Given the description of an element on the screen output the (x, y) to click on. 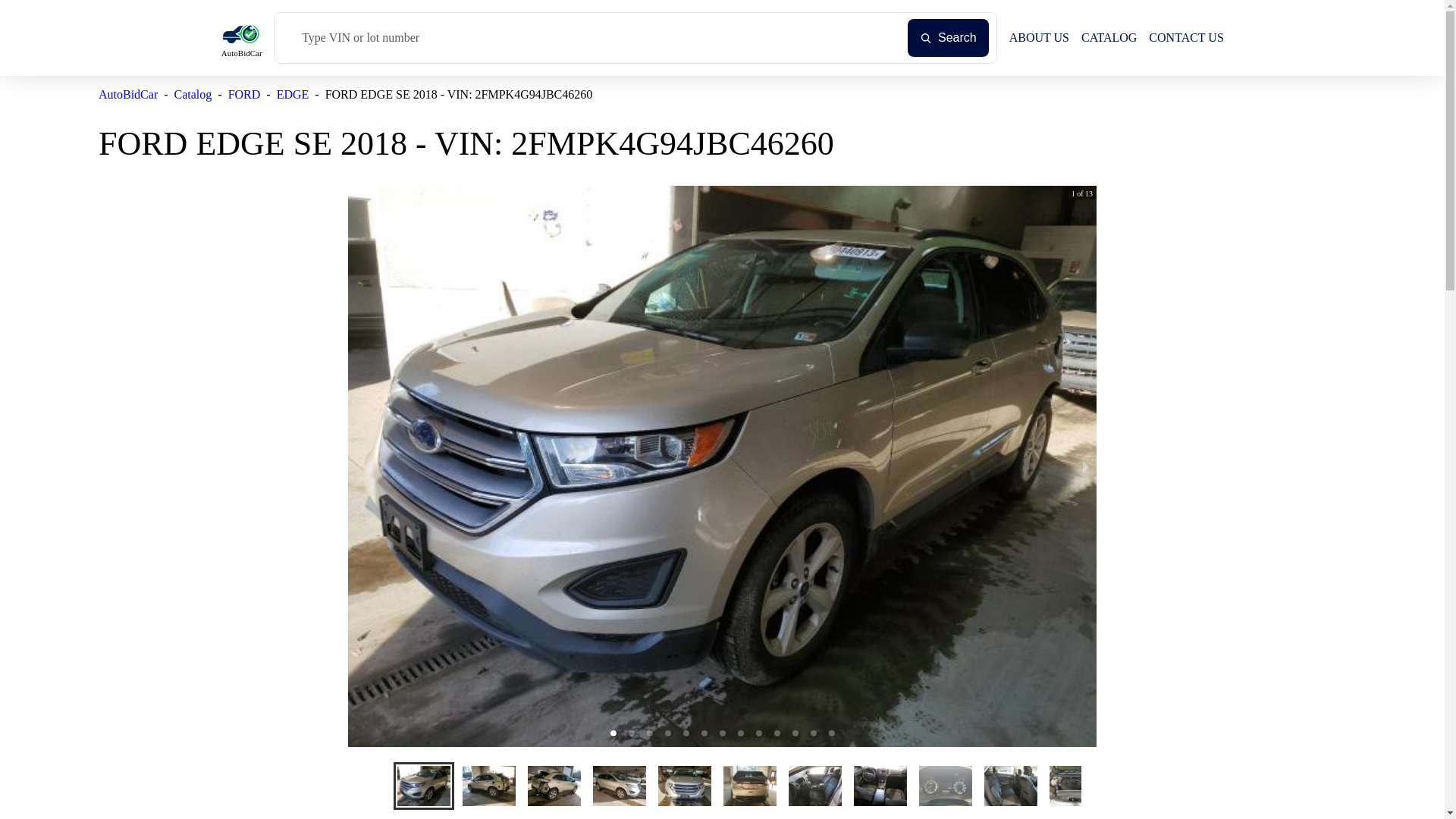
CONTACT US (1185, 38)
Search (947, 37)
Catalog (193, 93)
FORD (244, 93)
AutoBidCar (128, 93)
CATALOG (1109, 38)
EDGE (292, 93)
ABOUT US (1038, 38)
